Given the description of an element on the screen output the (x, y) to click on. 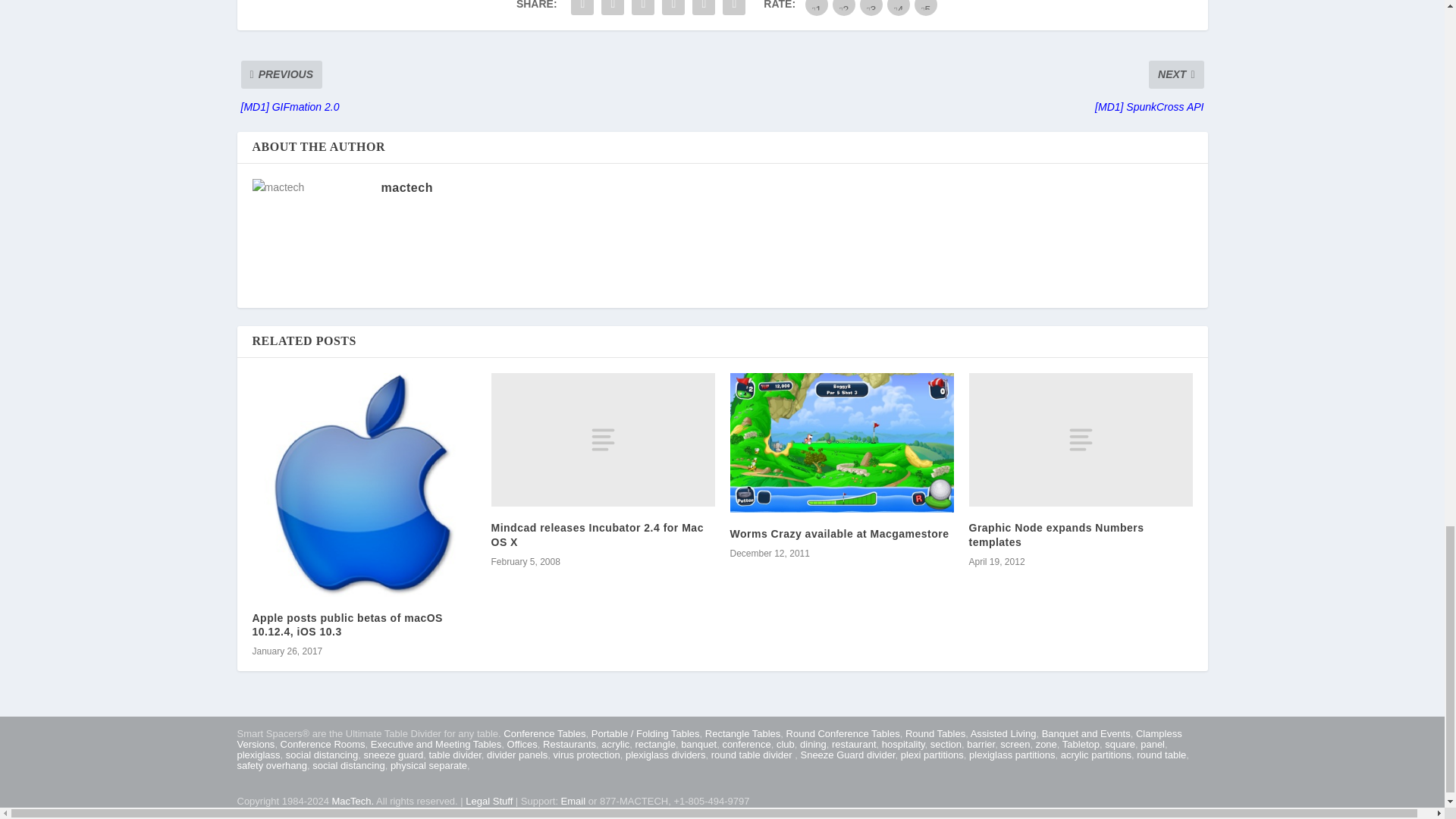
poor (844, 7)
bad (816, 7)
regular (871, 7)
